Given the description of an element on the screen output the (x, y) to click on. 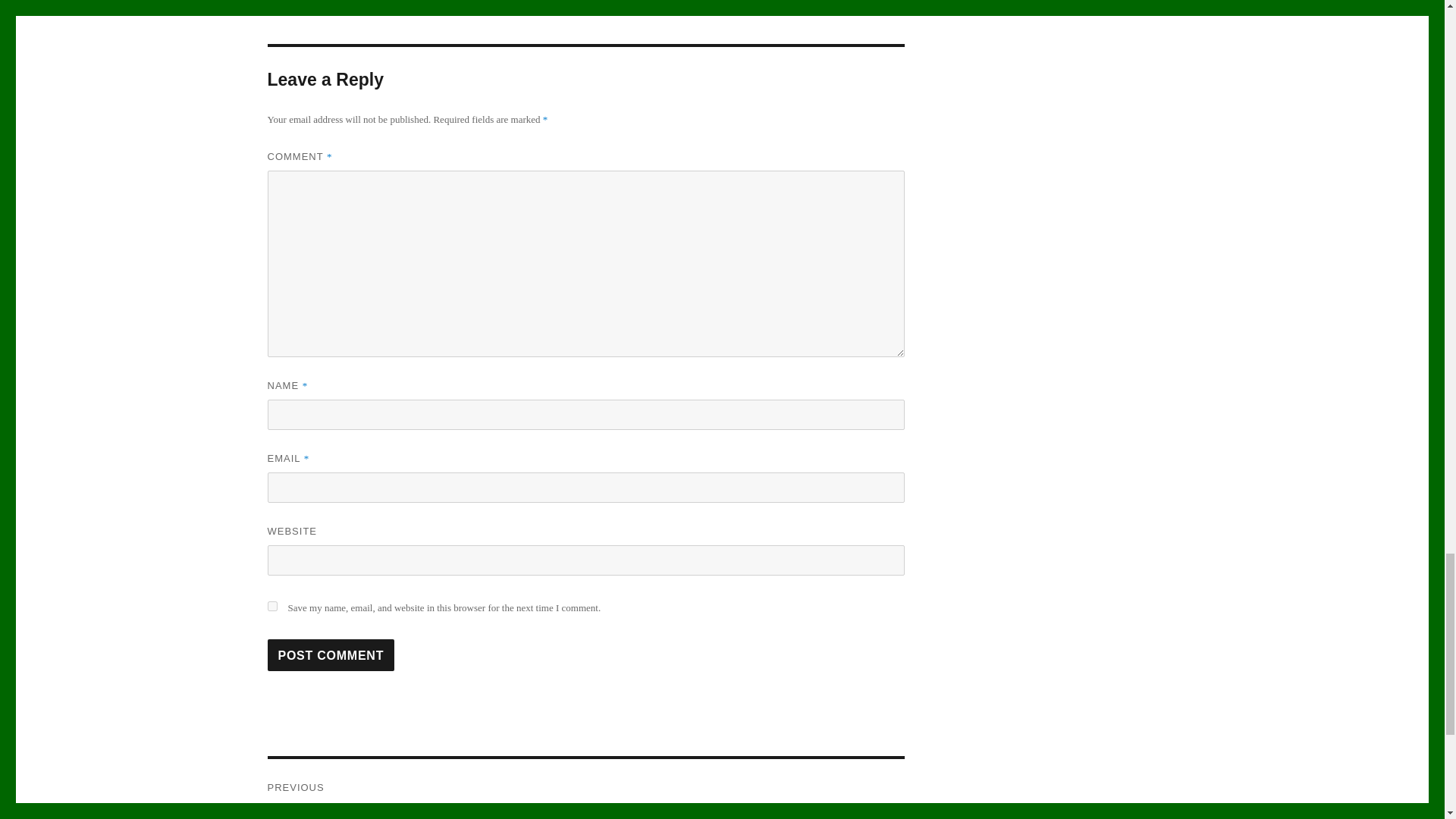
yes (271, 605)
Post Comment (330, 654)
Post Comment (330, 654)
